Given the description of an element on the screen output the (x, y) to click on. 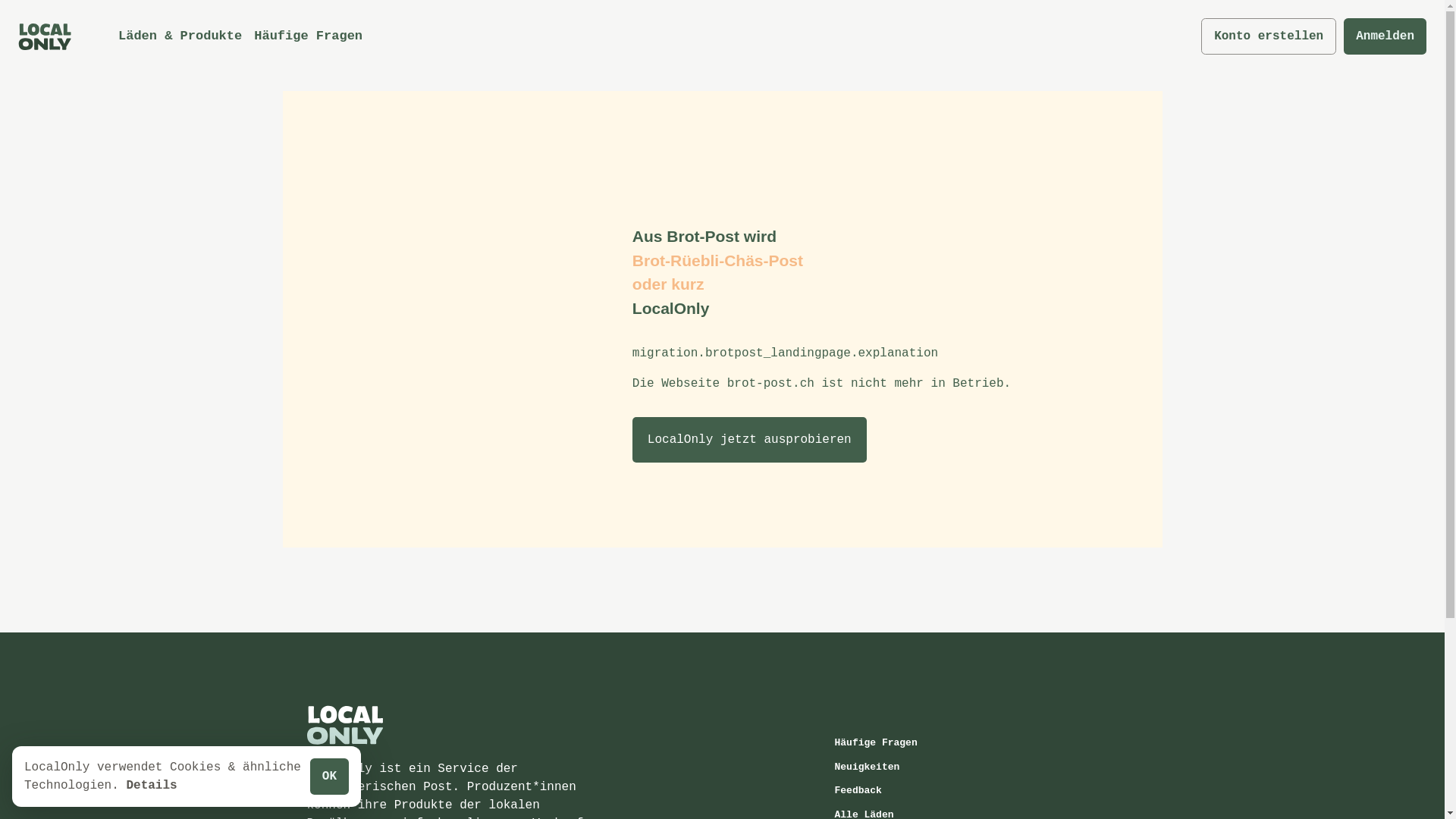
Details Element type: text (150, 785)
Neuigkeiten Element type: text (906, 767)
Konto erstellen Element type: text (1268, 36)
Anmelden Element type: text (1384, 36)
Feedback Element type: text (906, 790)
LocalOnly jetzt ausprobieren Element type: text (749, 439)
OK Element type: text (329, 776)
